Given the description of an element on the screen output the (x, y) to click on. 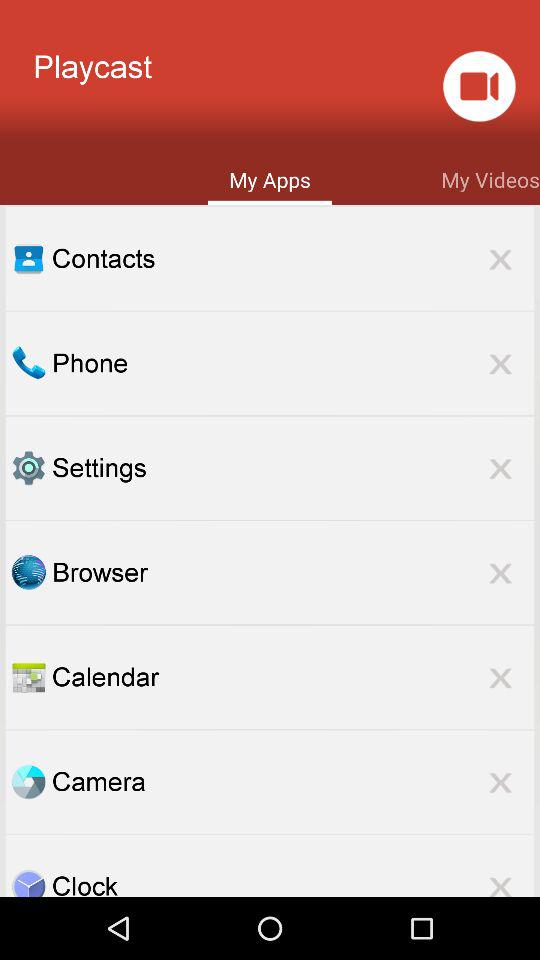
open my videos icon (490, 178)
